Given the description of an element on the screen output the (x, y) to click on. 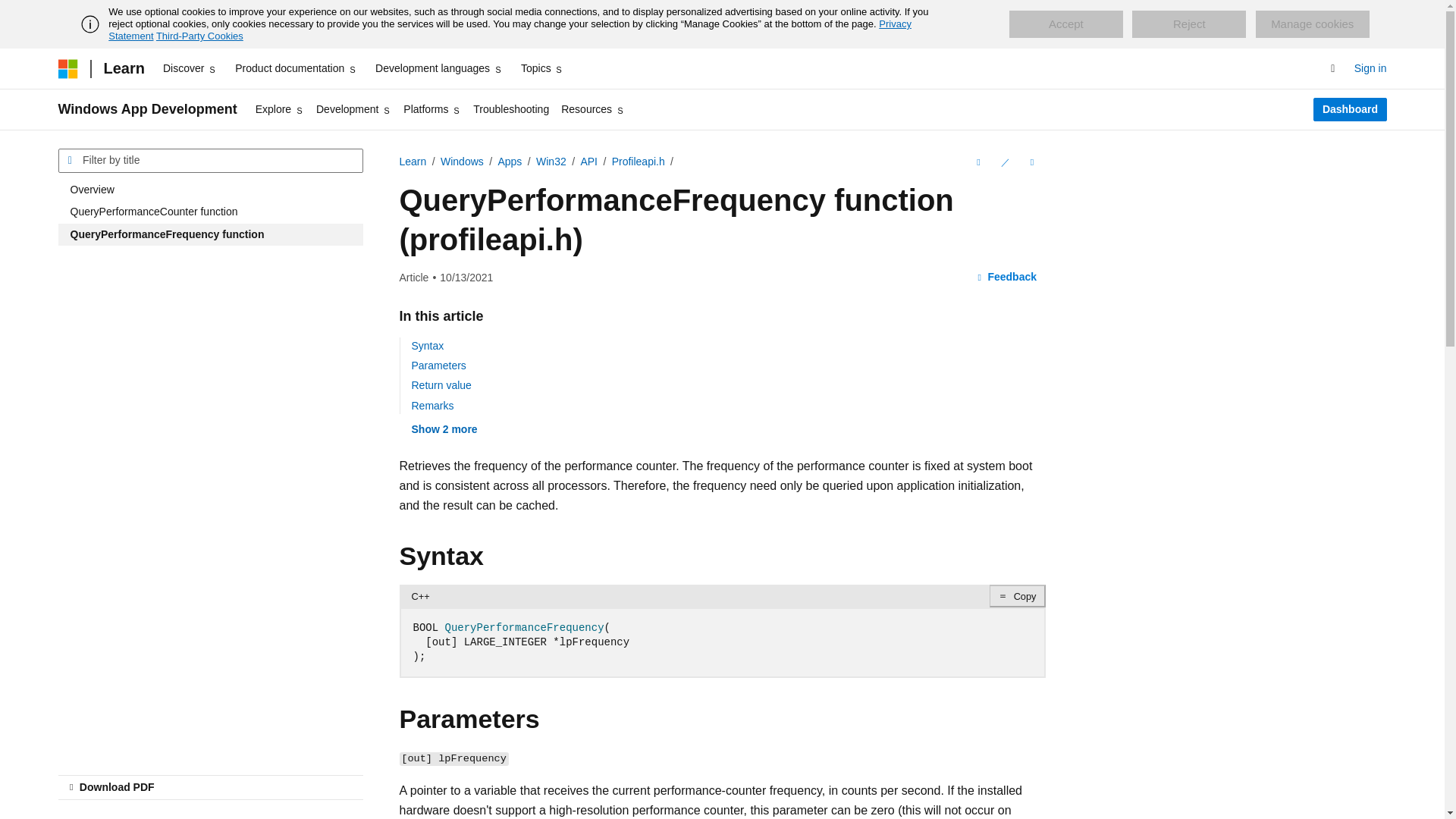
Platforms (432, 109)
Windows App Development (146, 109)
Third-Party Cookies (199, 35)
Product documentation (295, 68)
Sign in (1370, 68)
Explore (279, 109)
Edit This Document (1004, 161)
Privacy Statement (509, 29)
Reject (1189, 23)
More actions (1031, 161)
Discover (189, 68)
Manage cookies (1312, 23)
Skip to main content (11, 11)
Development languages (438, 68)
Learn (123, 68)
